Given the description of an element on the screen output the (x, y) to click on. 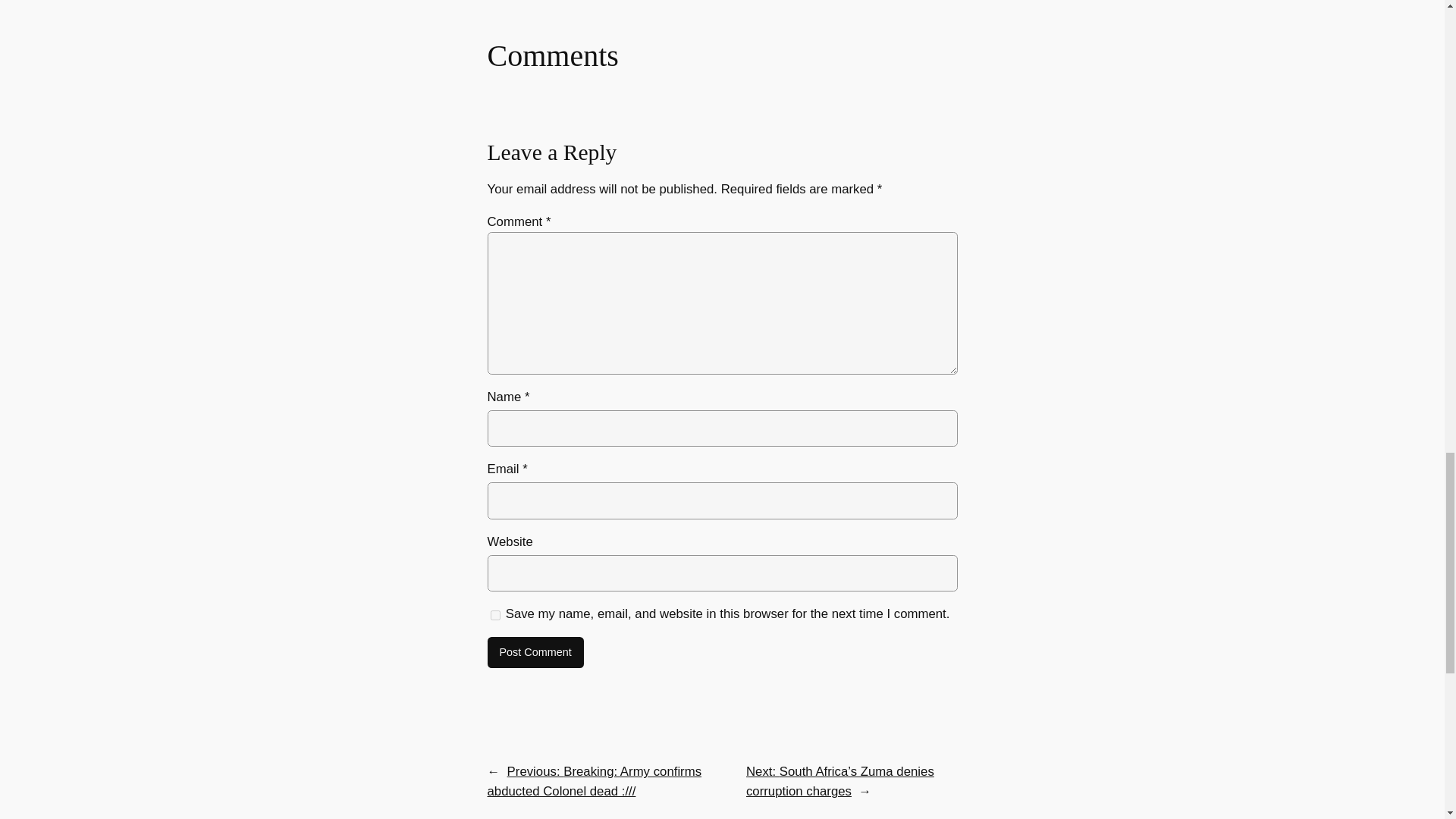
Post Comment (534, 653)
yes (494, 615)
Post Comment (534, 653)
